Given the description of an element on the screen output the (x, y) to click on. 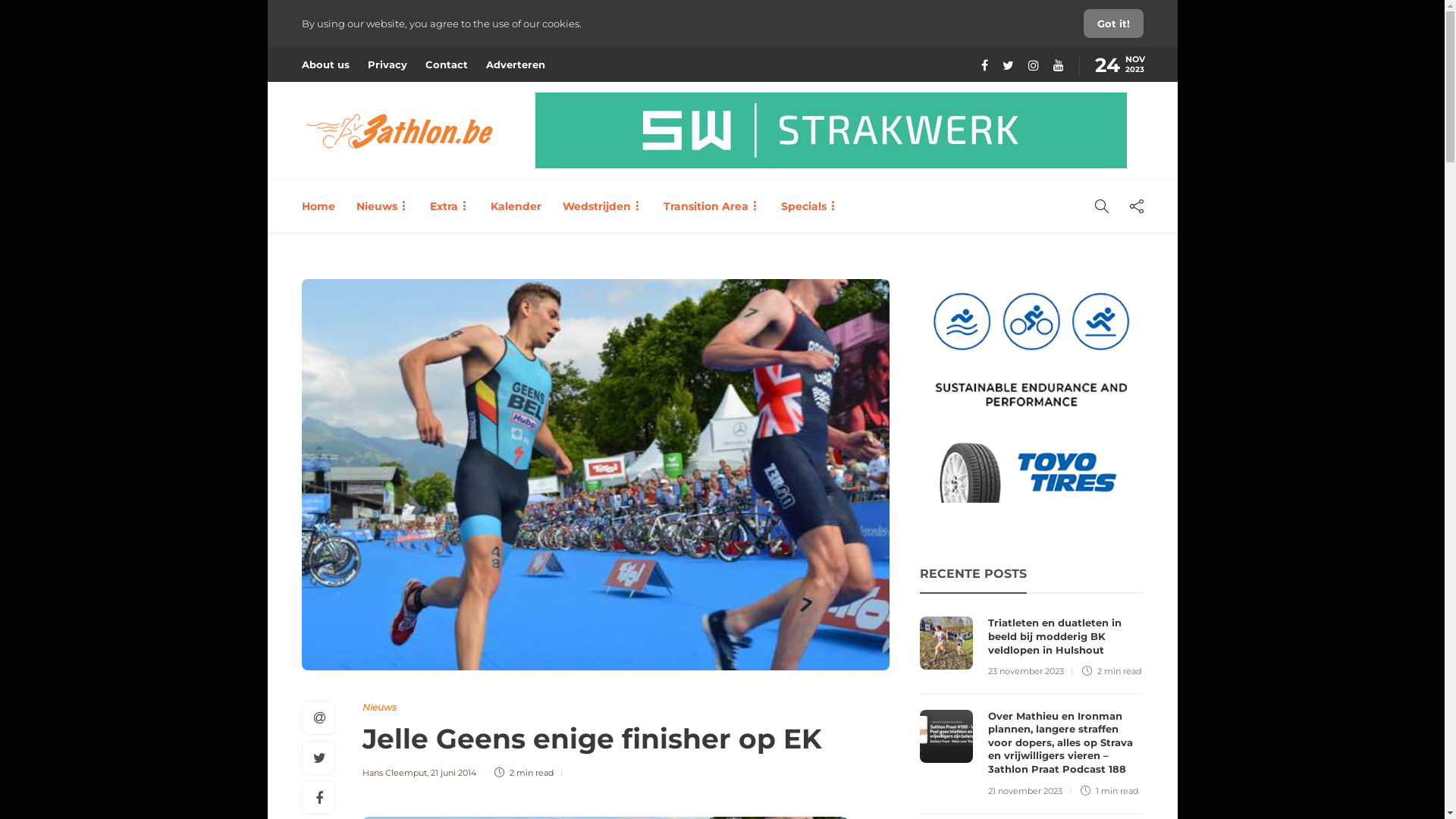
Adverteren Element type: text (514, 64)
Nieuws Element type: text (382, 205)
Kalender Element type: text (514, 205)
Got it! Element type: text (1112, 23)
Privacy Element type: text (386, 64)
Jelle Geens enige finisher op EK Element type: text (614, 742)
Extra Element type: text (448, 205)
Helling van Leuven banner 250 3athlonbe Element type: hover (1031, 390)
Contact Element type: text (445, 64)
21 november 2023 Element type: text (1025, 790)
Hans Cleemput Element type: text (394, 772)
Specials Element type: text (809, 205)
Nieuws Element type: text (379, 706)
23 november 2023 Element type: text (1025, 670)
Home Element type: text (318, 205)
Wedstrijden Element type: text (602, 205)
Transition Area Element type: text (710, 205)
21 juni 2014 Element type: text (453, 772)
About us Element type: text (325, 64)
